Given the description of an element on the screen output the (x, y) to click on. 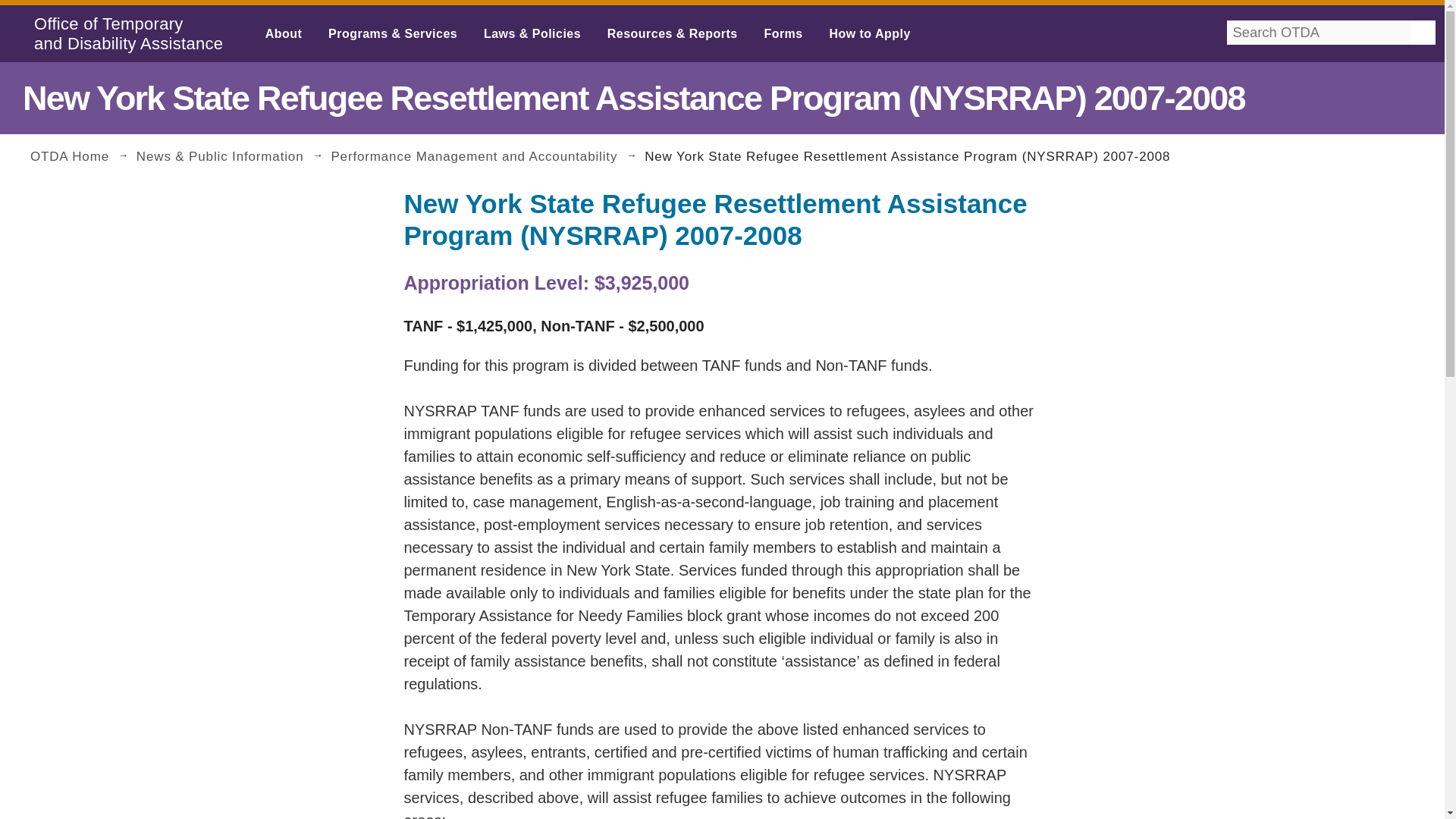
Forms (782, 33)
How to Apply (868, 33)
Office of Temporary and Disability Assistance (125, 33)
Search OTDA (1308, 48)
OTDA Home (81, 155)
Performance Management and Accountability (485, 155)
About (283, 33)
Search entire site (1418, 48)
